Given the description of an element on the screen output the (x, y) to click on. 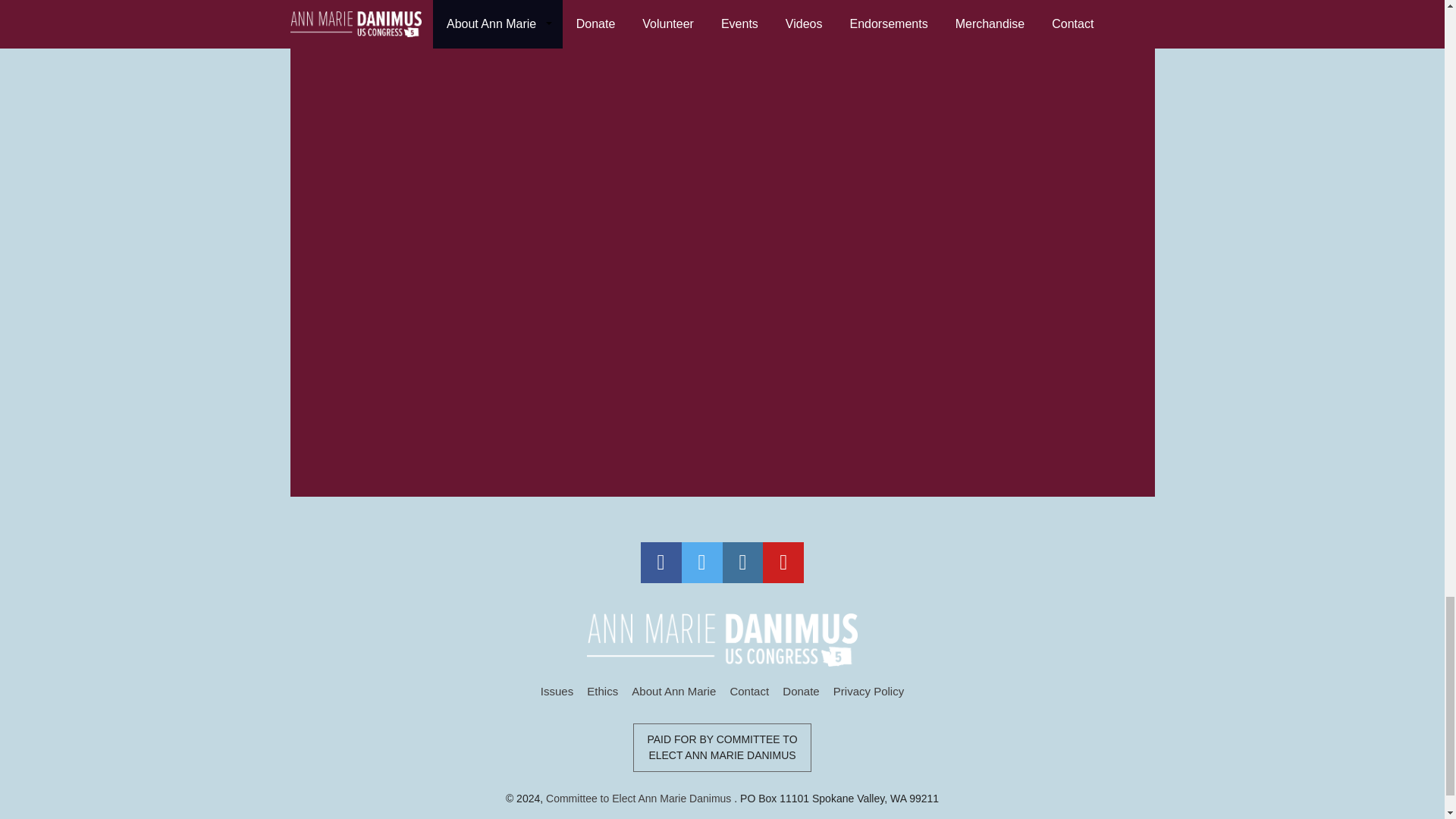
Privacy Policy (868, 690)
Contact (748, 690)
Issues (556, 690)
Committee to Elect Ann Marie Danimus (639, 798)
About Ann Marie (673, 690)
Donate (800, 690)
Ethics (601, 690)
